Given the description of an element on the screen output the (x, y) to click on. 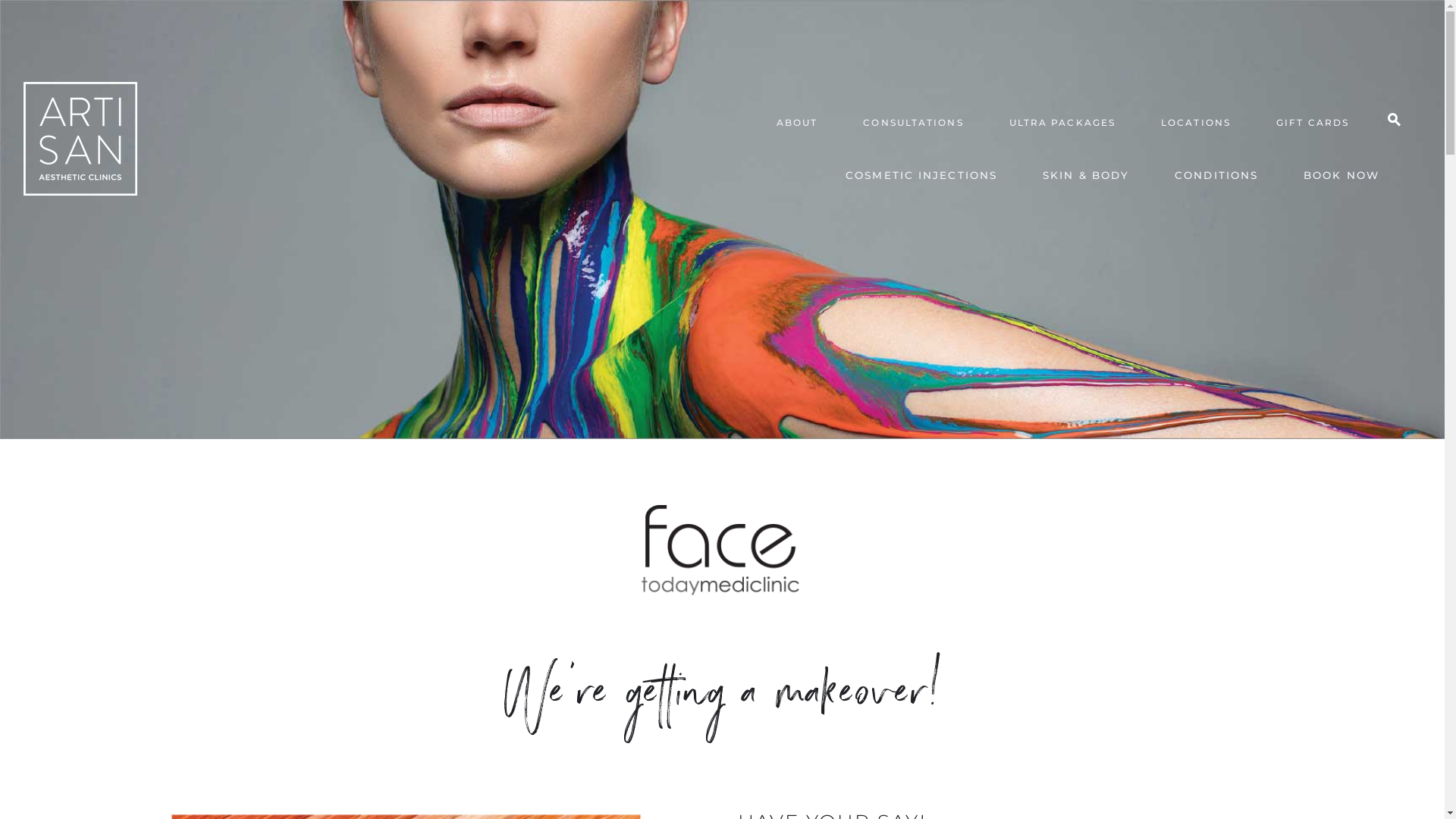
CONSULTATIONS Element type: text (912, 123)
COSMETIC INJECTIONS Element type: text (921, 176)
GIFT CARDS Element type: text (1312, 123)
LOCATIONS Element type: text (1195, 123)
ABOUT Element type: text (797, 123)
SKIN & BODY Element type: text (1085, 176)
ULTRA PACKAGES Element type: text (1062, 123)
BOOK NOW Element type: text (1341, 176)
CONDITIONS Element type: text (1216, 176)
Skip to content Element type: text (1443, 0)
